Given the description of an element on the screen output the (x, y) to click on. 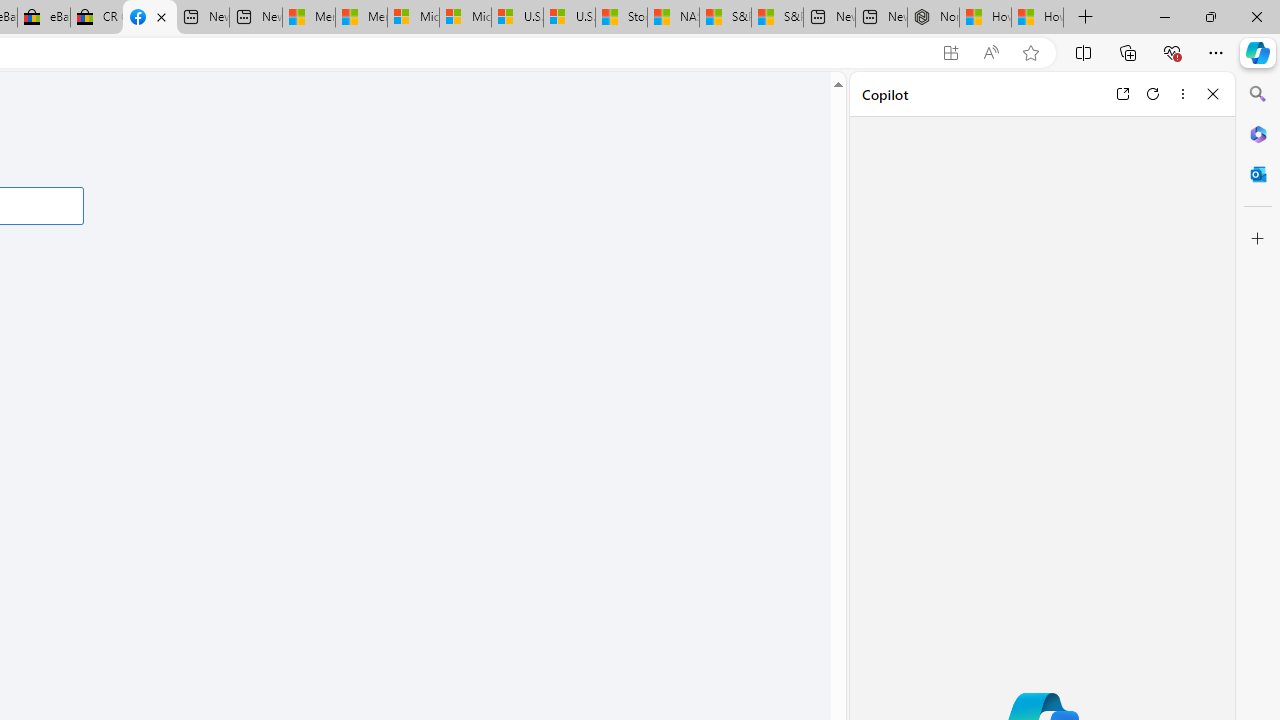
Outlook (1258, 174)
Microsoft 365 (1258, 133)
Open link in new tab (1122, 93)
Customize (1258, 239)
